Given the description of an element on the screen output the (x, y) to click on. 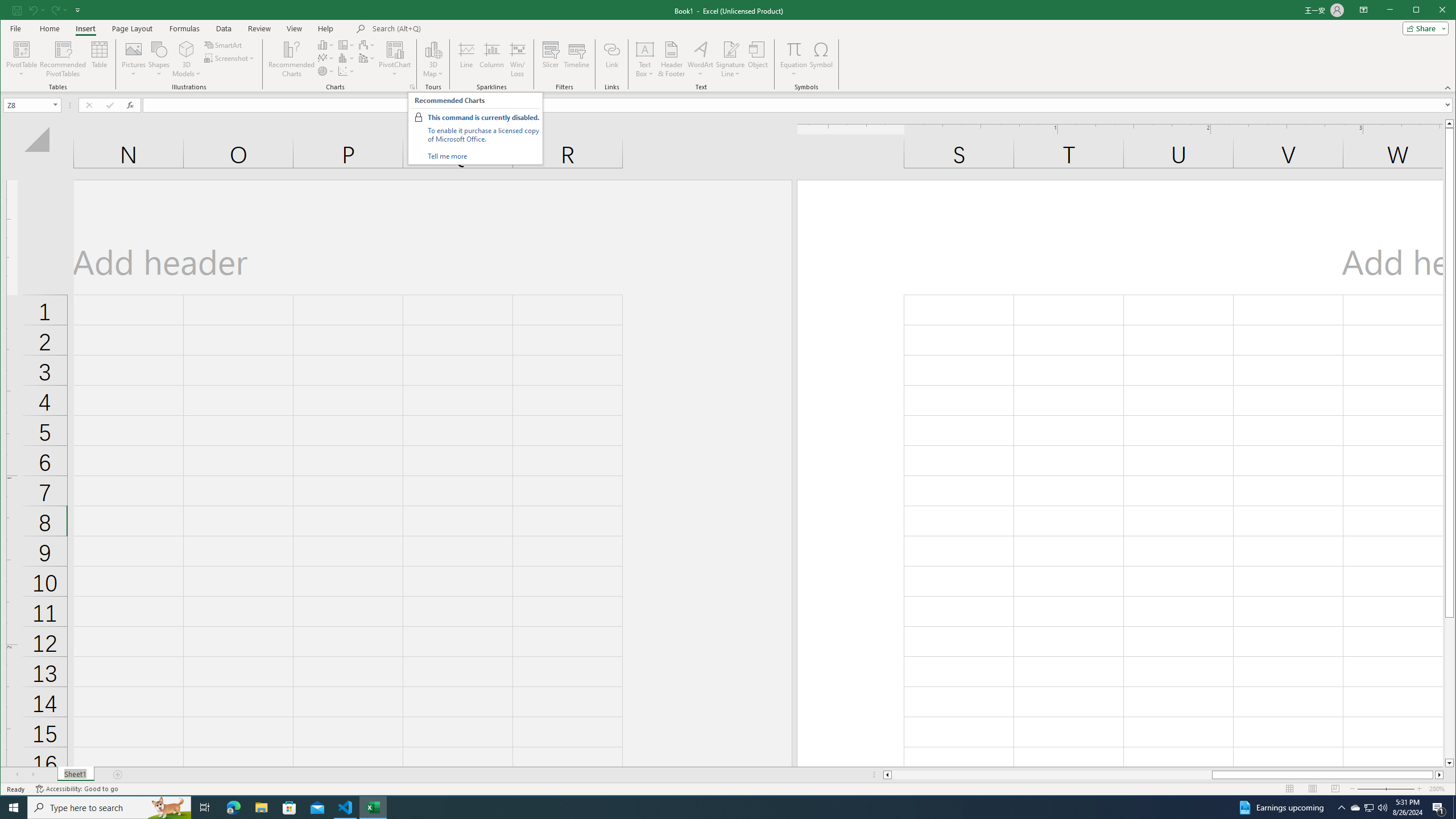
Pictures (133, 59)
Screenshot (229, 57)
Visual Studio Code - 1 running window (345, 807)
SmartArt... (224, 44)
Recommended PivotTables (63, 59)
Excel - 1 running window (373, 807)
Insert Line or Area Chart (325, 57)
